Given the description of an element on the screen output the (x, y) to click on. 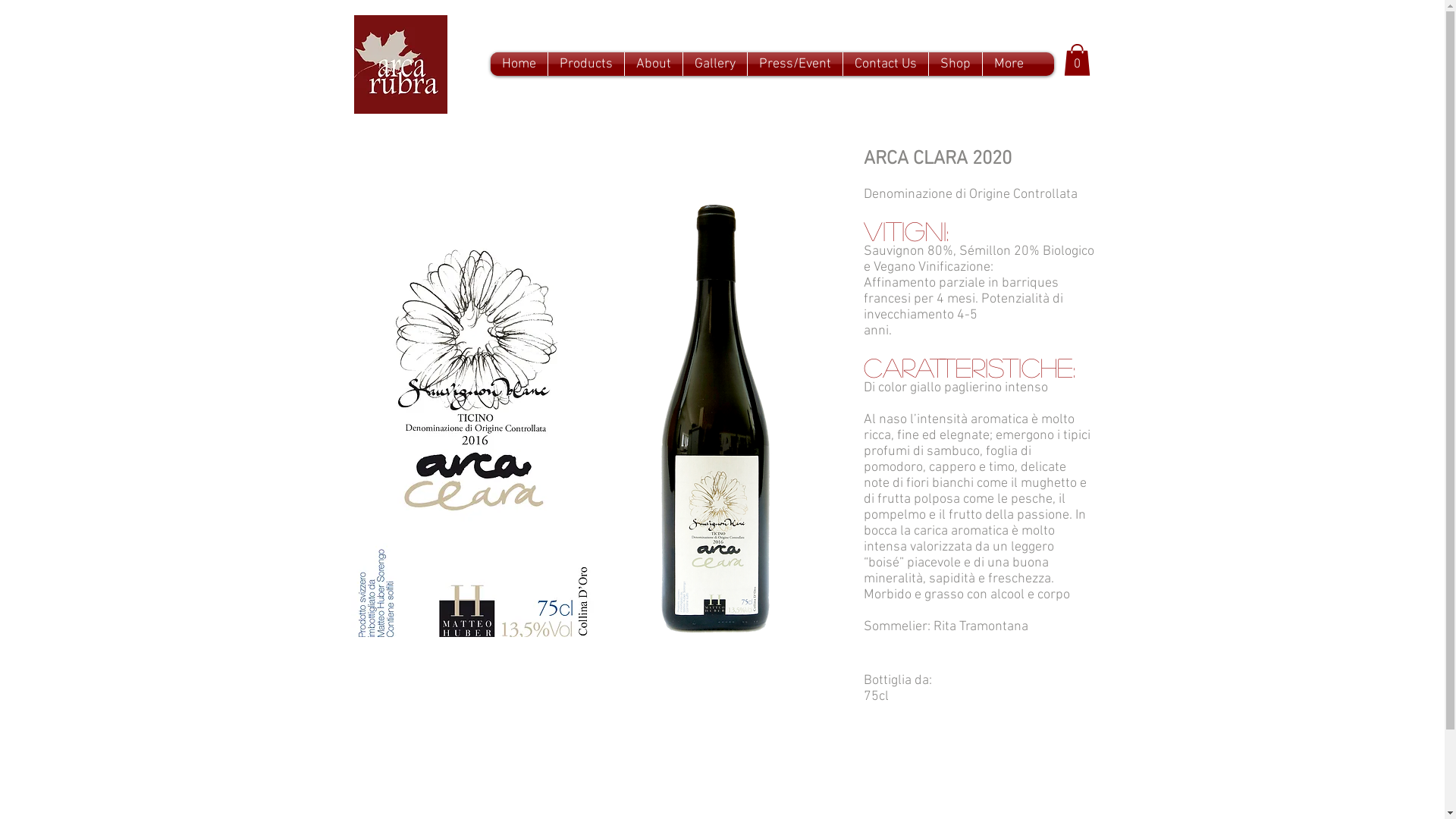
Products Element type: text (585, 63)
Gallery Element type: text (714, 63)
About Element type: text (653, 63)
Shop Element type: text (954, 63)
0 Element type: text (1076, 59)
Press/Event Element type: text (794, 63)
Contact Us Element type: text (885, 63)
Home Element type: text (517, 63)
